Given the description of an element on the screen output the (x, y) to click on. 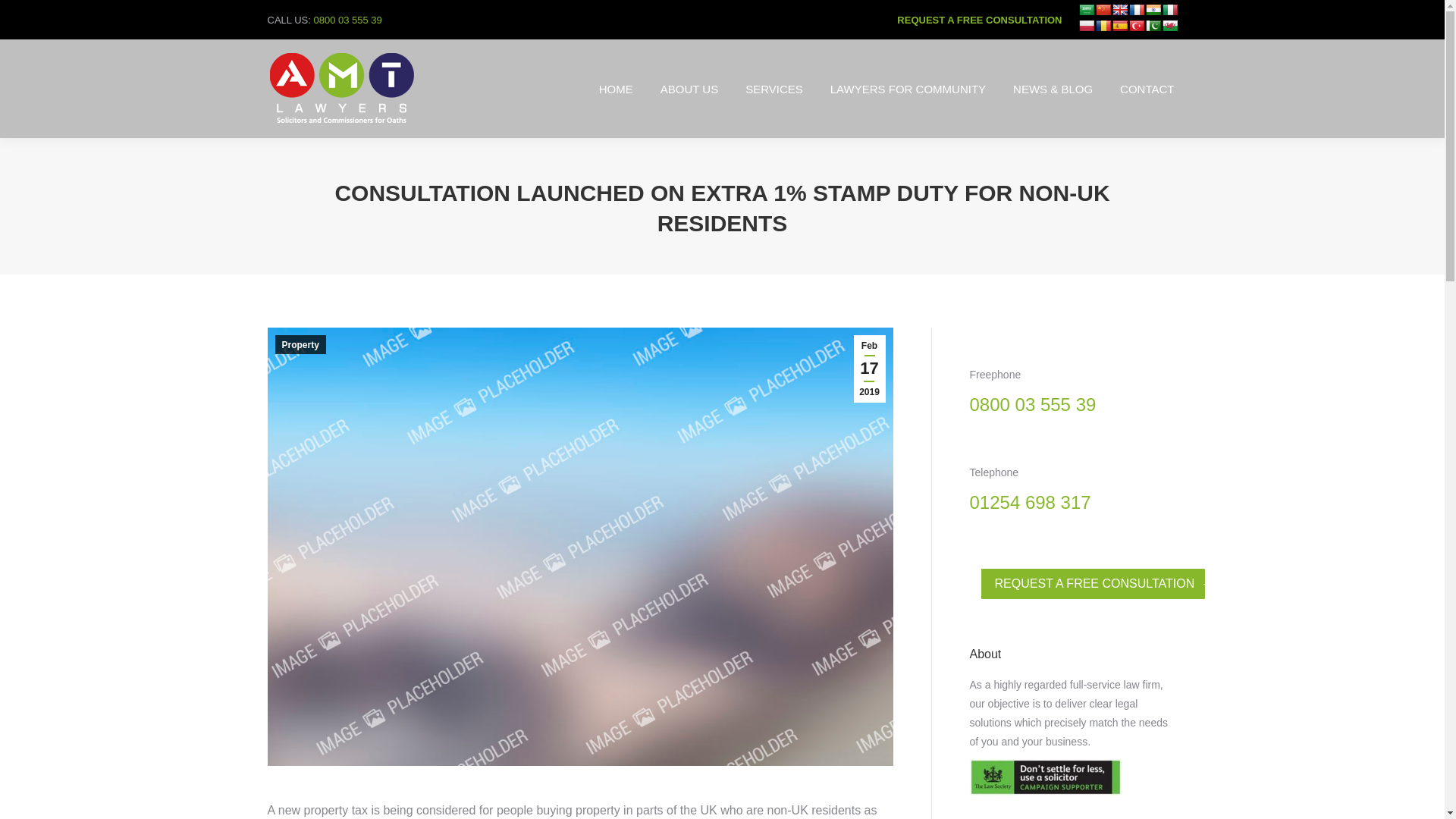
Italian (1168, 9)
Hindi (1152, 9)
Spanish (1119, 25)
0800 03 555 39 (347, 19)
Romanian (1101, 25)
SERVICES (774, 88)
REQUEST A FREE CONSULTATION (978, 19)
English (1119, 9)
ABOUT US (689, 88)
Turkish (1135, 25)
French (1135, 9)
Welsh (1168, 25)
Urdu (1152, 25)
Polish (1085, 25)
Arabic (1085, 9)
